Given the description of an element on the screen output the (x, y) to click on. 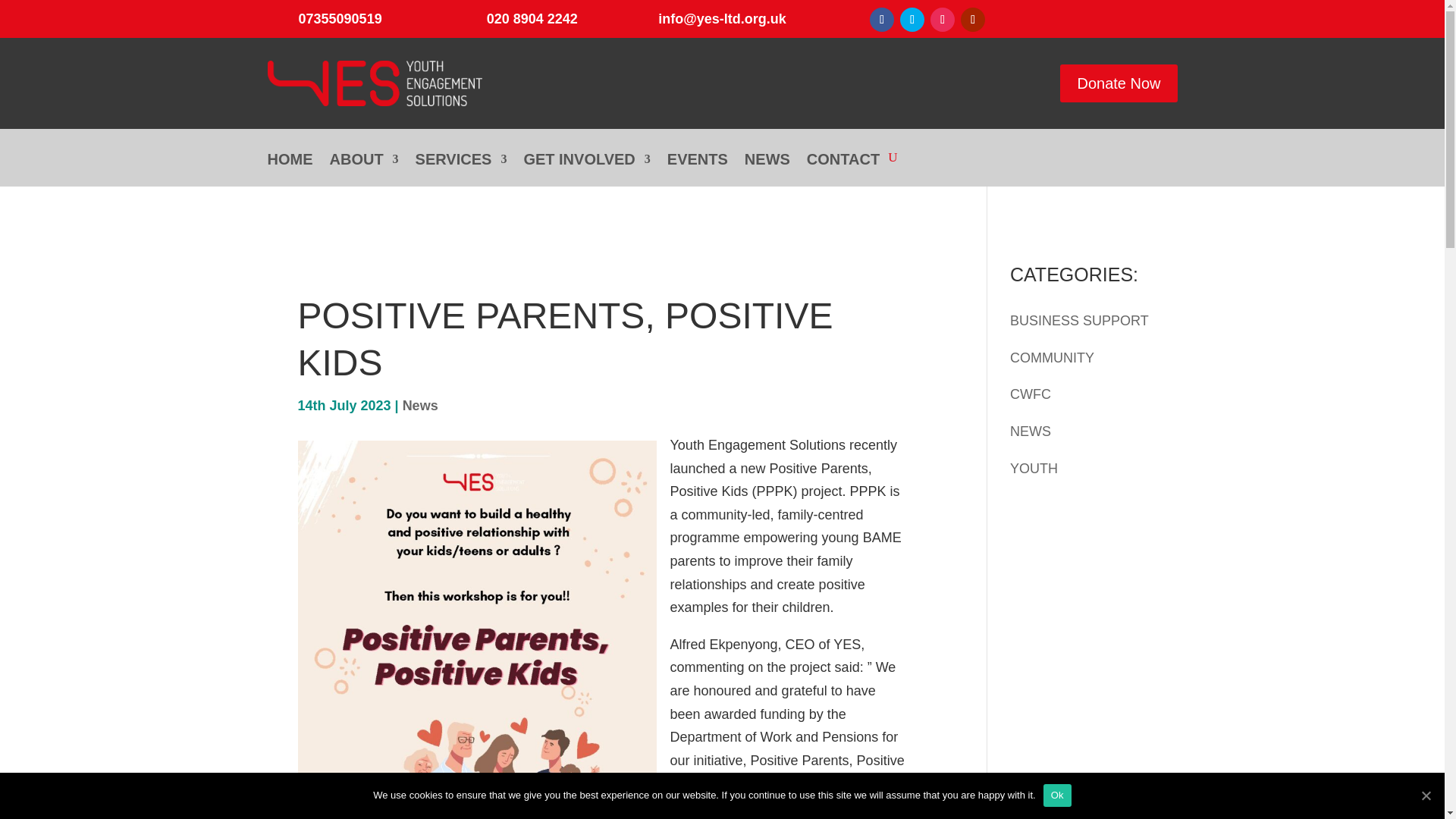
NEWS (767, 169)
Follow on Instagram (942, 19)
GET INVOLVED (585, 169)
Follow on Facebook (881, 19)
Follow on Twitter (911, 19)
020 8904 2242 (532, 18)
Follow on Youtube (972, 19)
CONTACT (842, 169)
HOME (289, 169)
ABOUT (363, 169)
EVENTS (697, 169)
Donate Now (1117, 83)
SERVICES (460, 169)
07355090519 (339, 18)
